Given the description of an element on the screen output the (x, y) to click on. 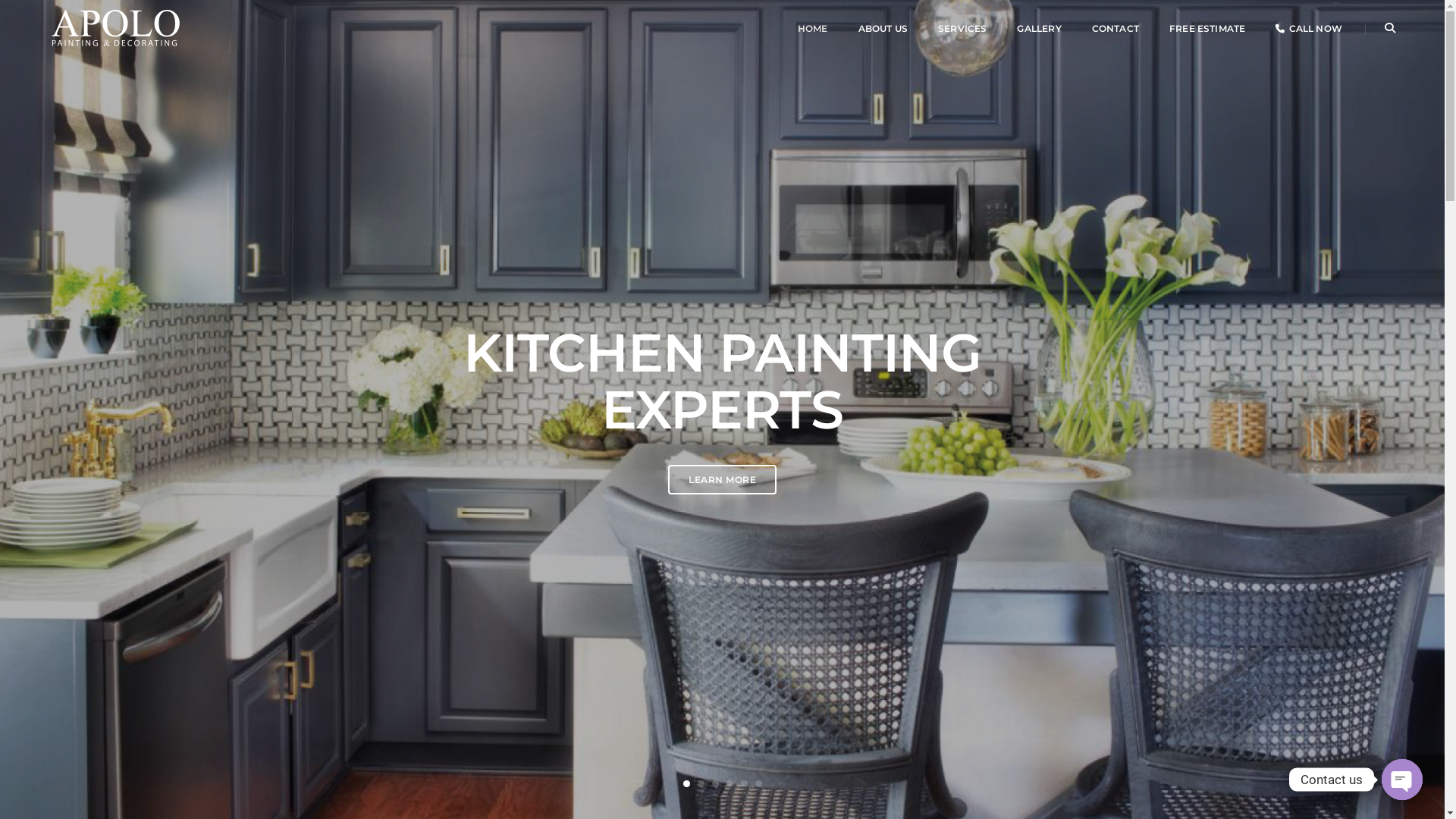
APOLO Painting & Decorating Element type: hover (115, 27)
HOME Element type: text (812, 28)
ABOUT US Element type: text (882, 28)
GALLERY Element type: text (1038, 28)
FREE ESTIMATE Element type: text (1207, 28)
CONTACT Element type: text (1115, 28)
SERVICES Element type: text (962, 28)
LEARN MORE Element type: text (722, 479)
CALL NOW Element type: text (1308, 28)
